Given the description of an element on the screen output the (x, y) to click on. 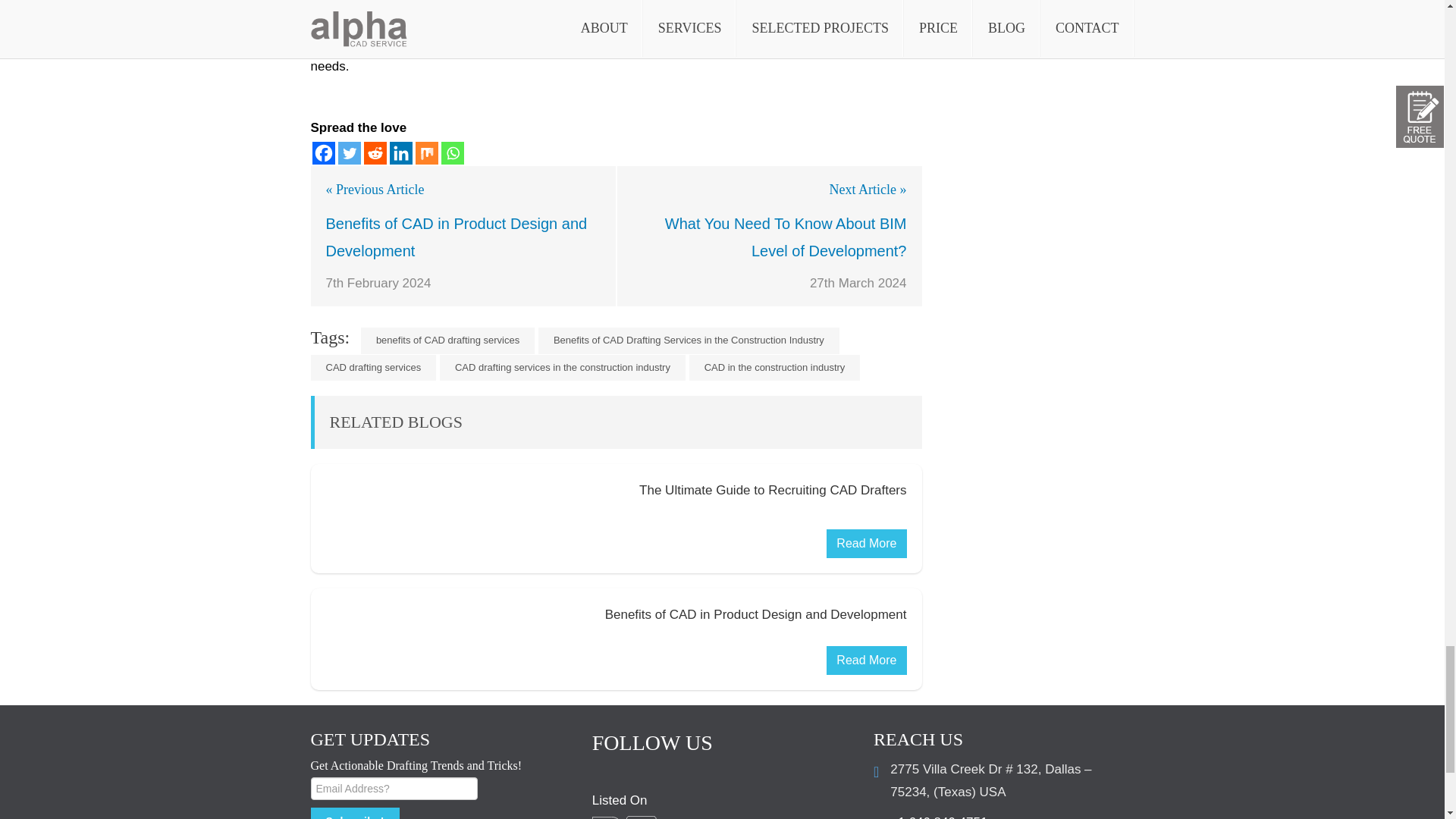
Reddit (375, 152)
Whatsapp (452, 152)
Facebook (323, 152)
Subscribe! (354, 813)
Email Address? (394, 788)
Mix (426, 152)
Linkedin (401, 152)
Twitter (349, 152)
